Given the description of an element on the screen output the (x, y) to click on. 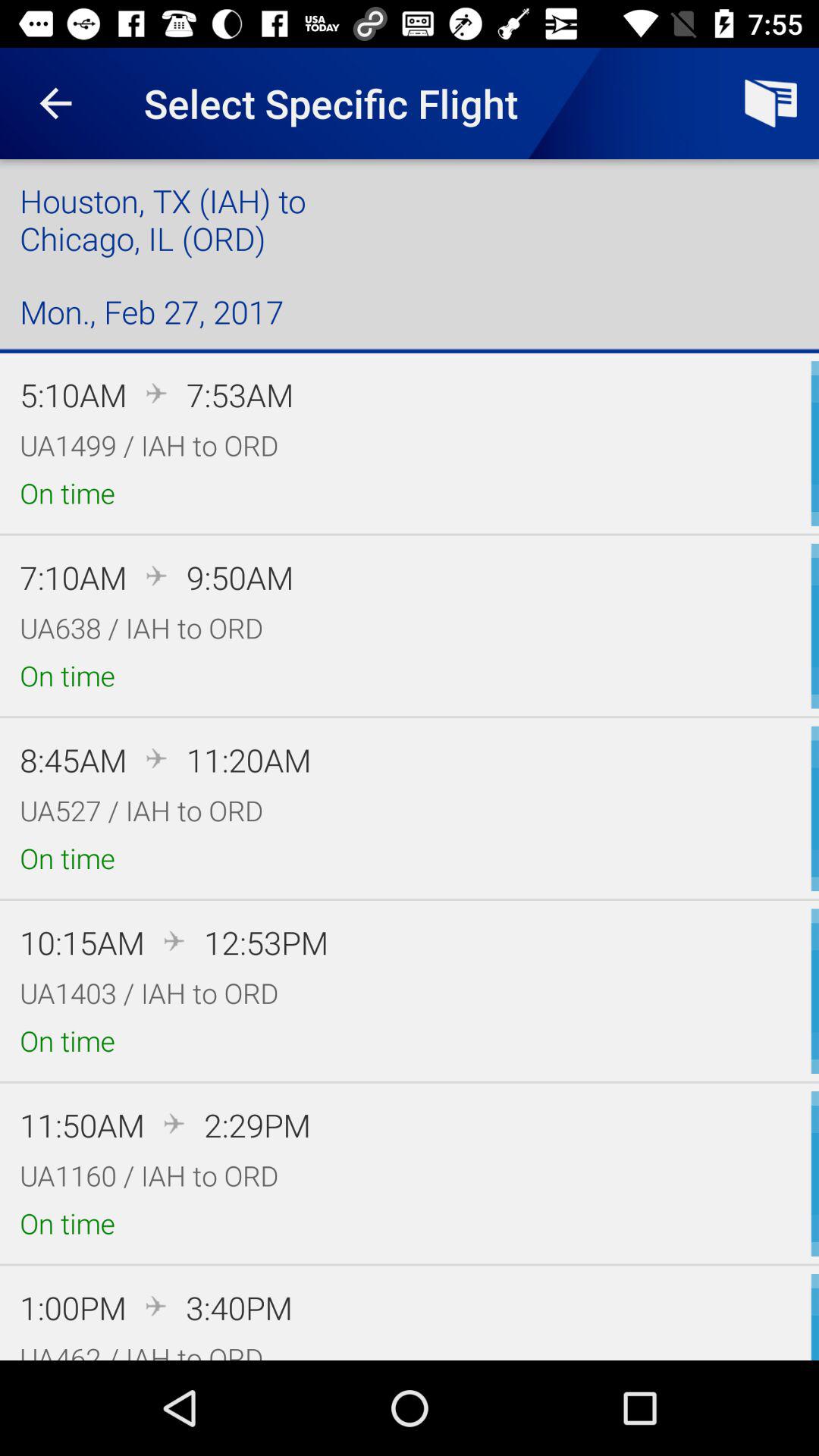
select 1:00pm (72, 1307)
